Given the description of an element on the screen output the (x, y) to click on. 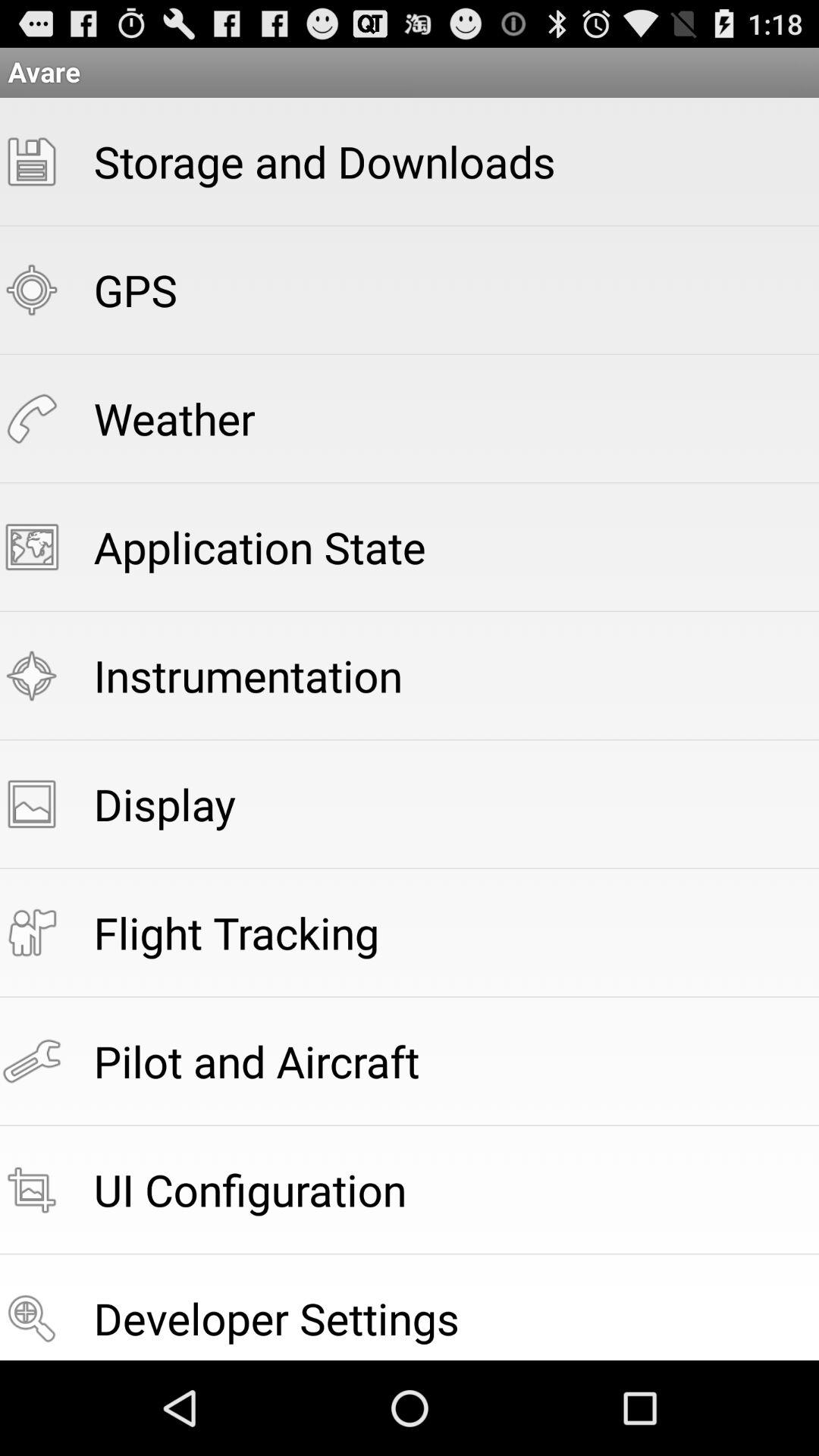
turn off the item below the application state (247, 675)
